Given the description of an element on the screen output the (x, y) to click on. 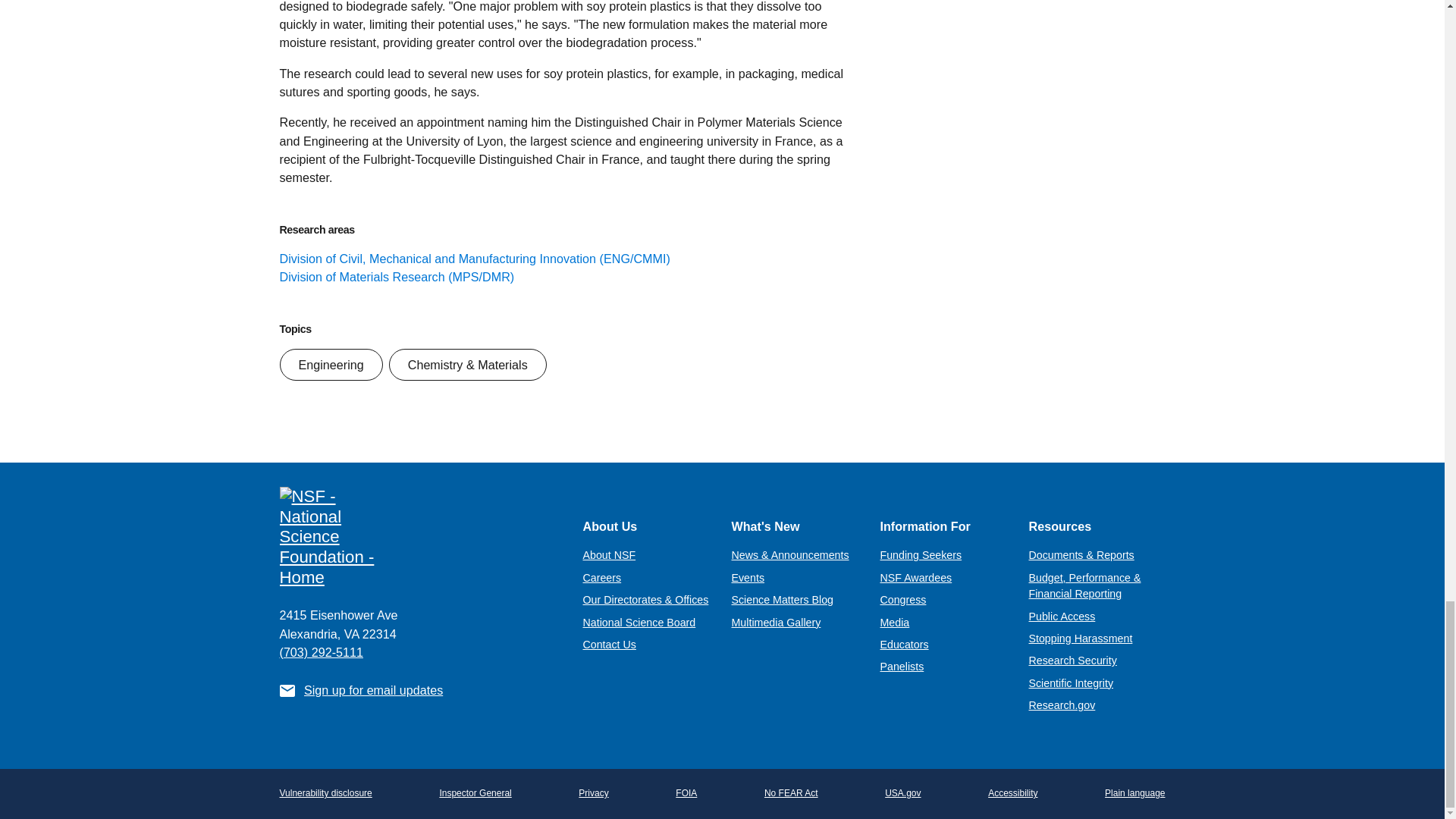
Sign up for email updates (373, 689)
About NSF (608, 554)
Careers (601, 577)
Contact Us (608, 644)
National Science Board (638, 622)
NSF - National Science Foundation - Home (418, 537)
